Given the description of an element on the screen output the (x, y) to click on. 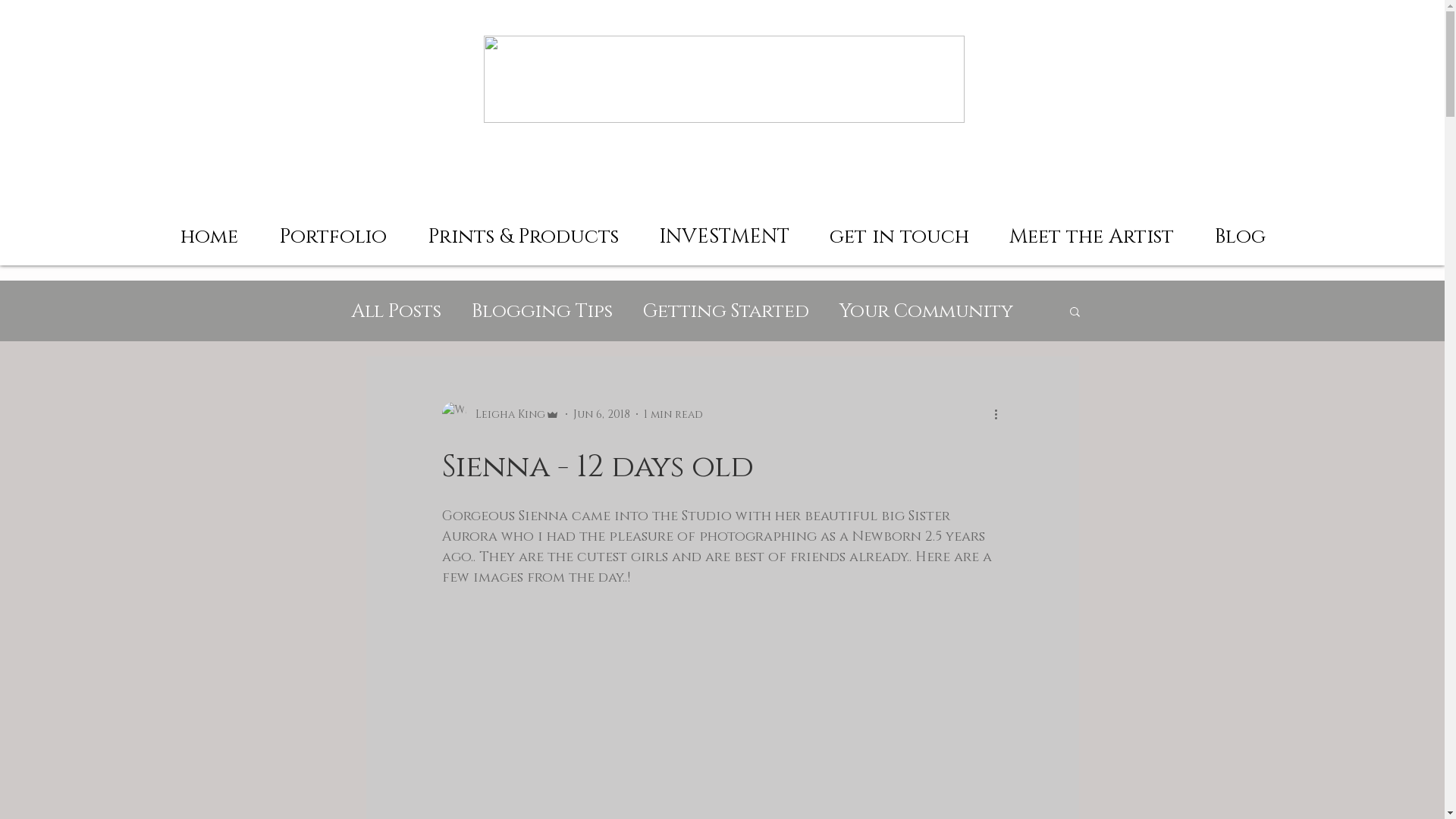
home Element type: text (208, 229)
INVESTMENT Element type: text (723, 229)
Blog Element type: text (1239, 229)
Your Community Element type: text (925, 310)
Meet the Artist Element type: text (1090, 229)
get in touch Element type: text (899, 229)
Prints & Products Element type: text (522, 229)
Blogging Tips Element type: text (541, 310)
Portfolio Element type: text (331, 229)
Getting Started Element type: text (726, 310)
All Posts Element type: text (395, 310)
Leigha King Element type: text (499, 413)
